Given the description of an element on the screen output the (x, y) to click on. 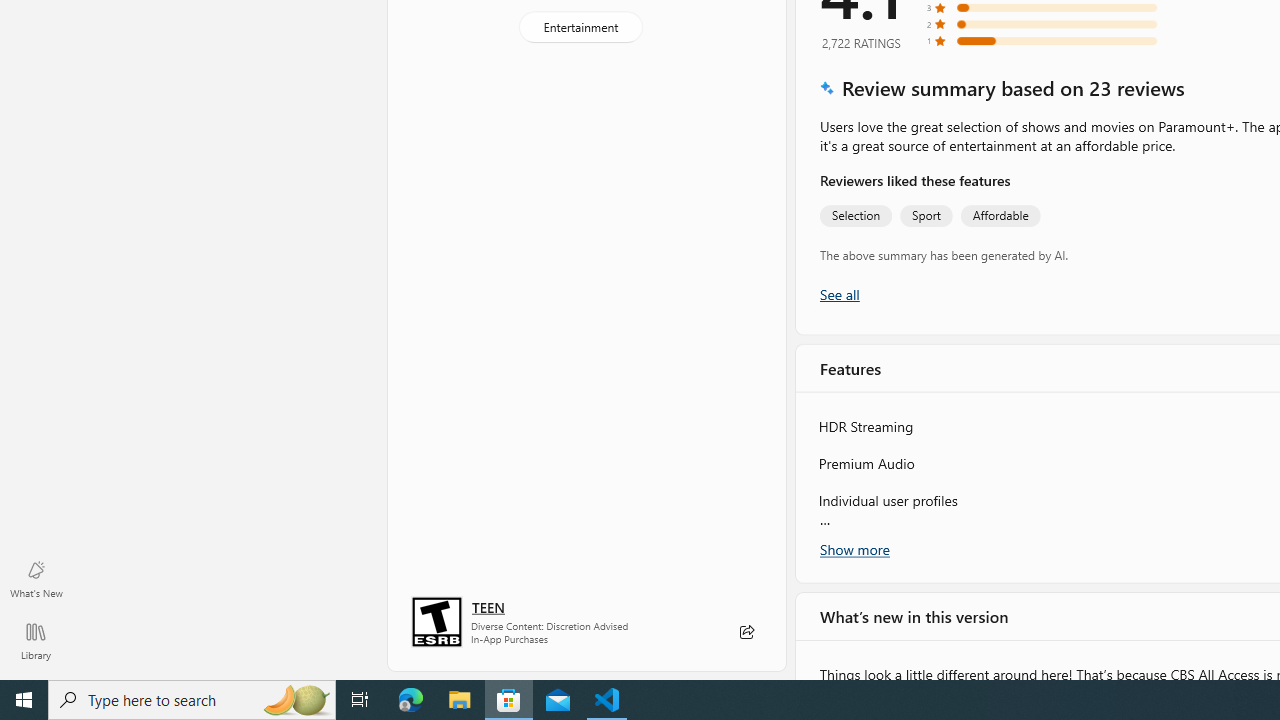
What's New (35, 578)
Library (35, 640)
Show all ratings and reviews (838, 294)
Show more (854, 549)
Age rating: TEEN. Click for more information. (488, 606)
Share (746, 632)
Entertainment (580, 26)
